Given the description of an element on the screen output the (x, y) to click on. 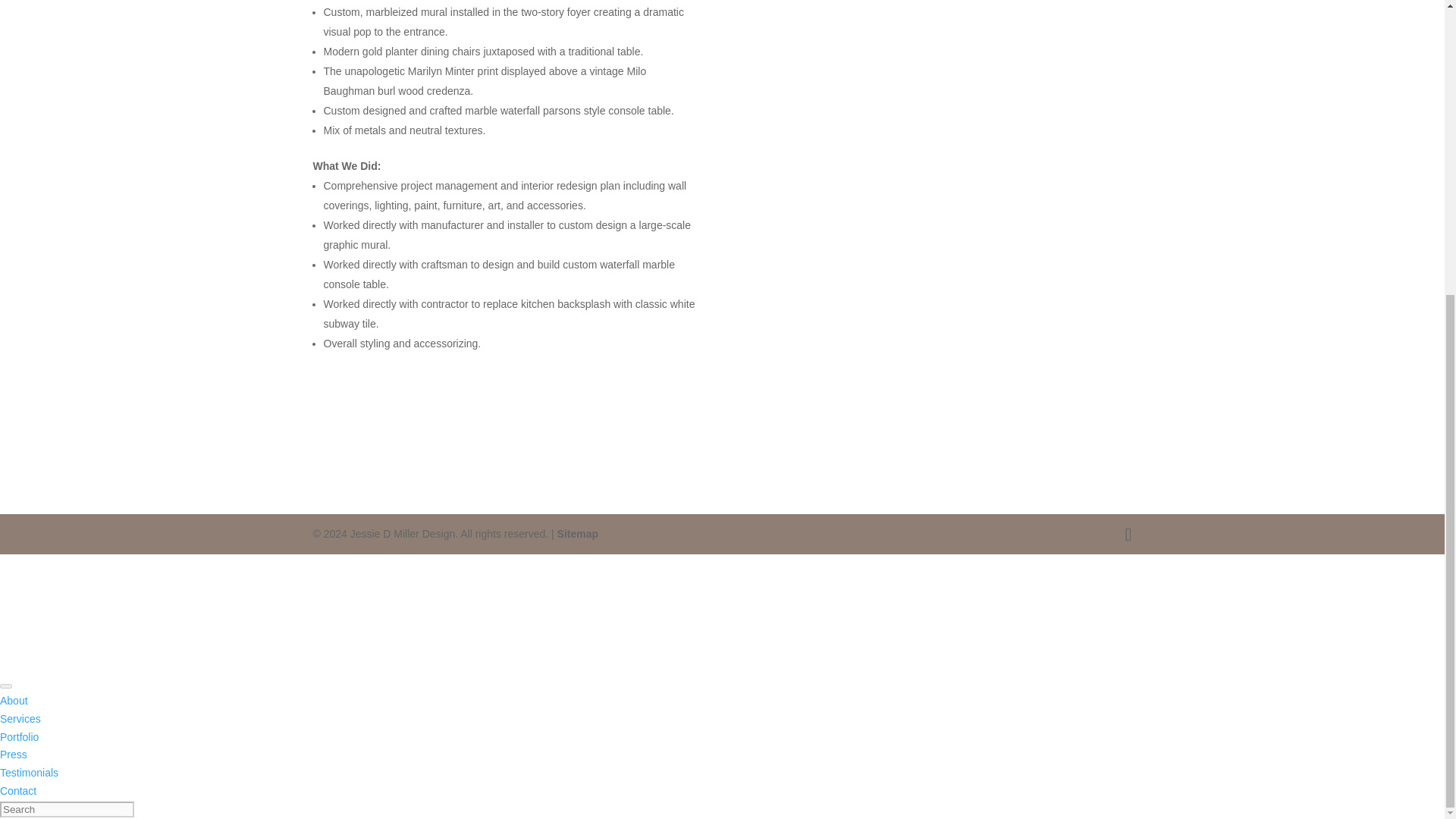
About (13, 700)
Portfolio (19, 736)
Press (13, 754)
Services (20, 718)
Testimonials (29, 772)
Sitemap (577, 533)
Search (66, 809)
Contact (18, 790)
